Given the description of an element on the screen output the (x, y) to click on. 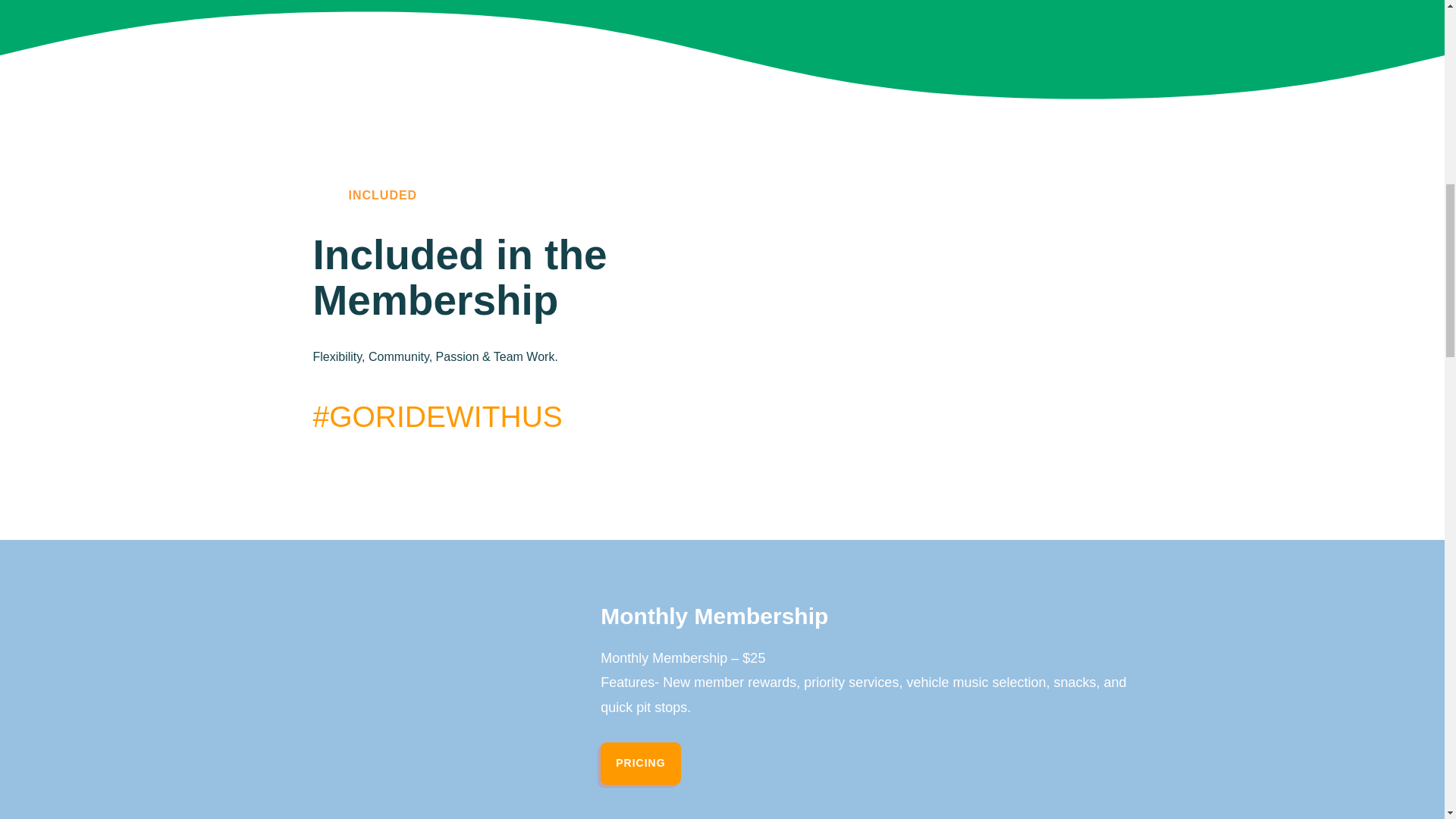
PRICING (639, 763)
